Given the description of an element on the screen output the (x, y) to click on. 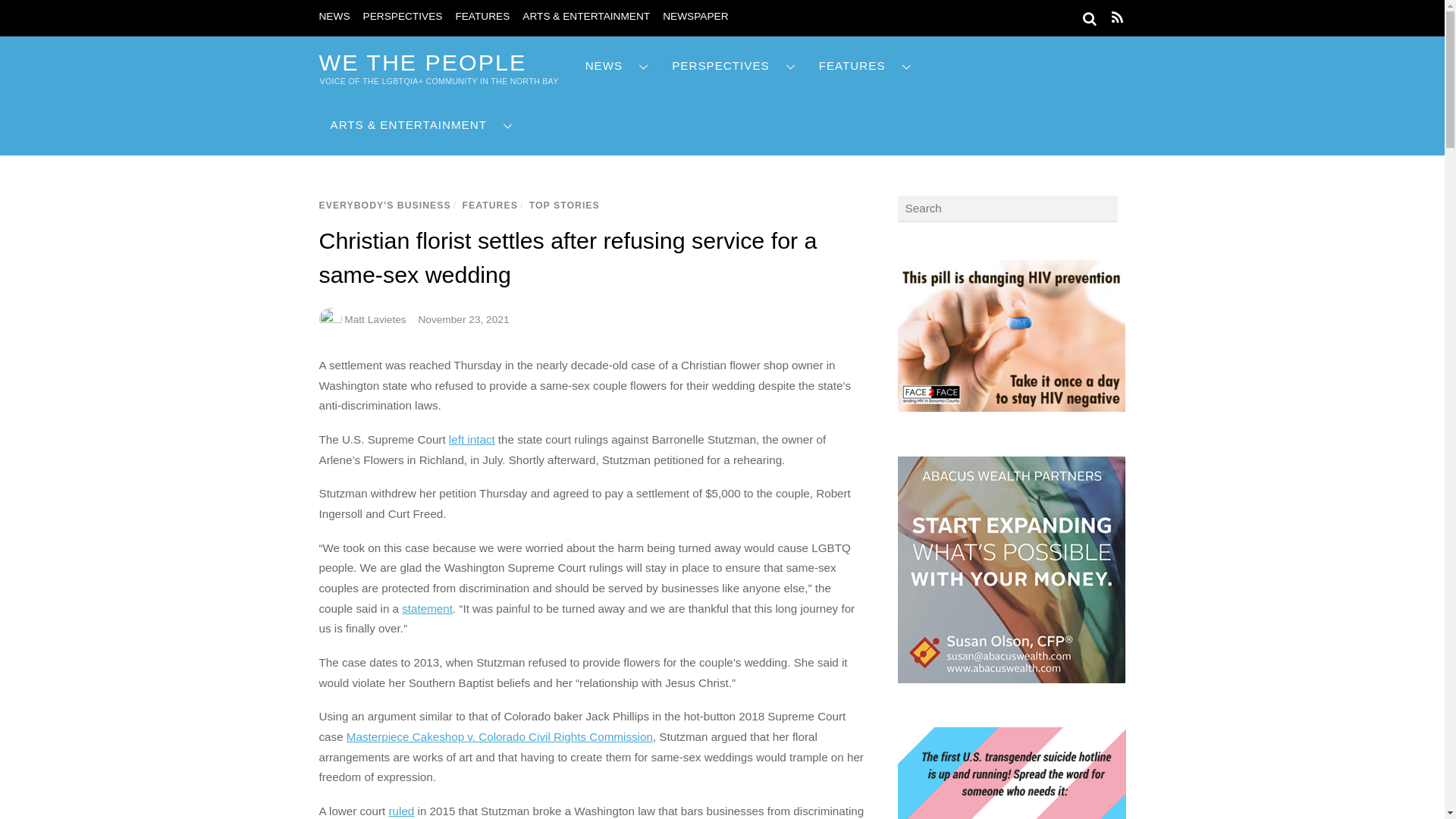
PERSPECTIVES (402, 16)
NEWS (617, 66)
FEATURES (481, 16)
NEWS (333, 16)
WE THE PEOPLE (421, 62)
We The People (421, 62)
NEWSPAPER (695, 16)
